Given the description of an element on the screen output the (x, y) to click on. 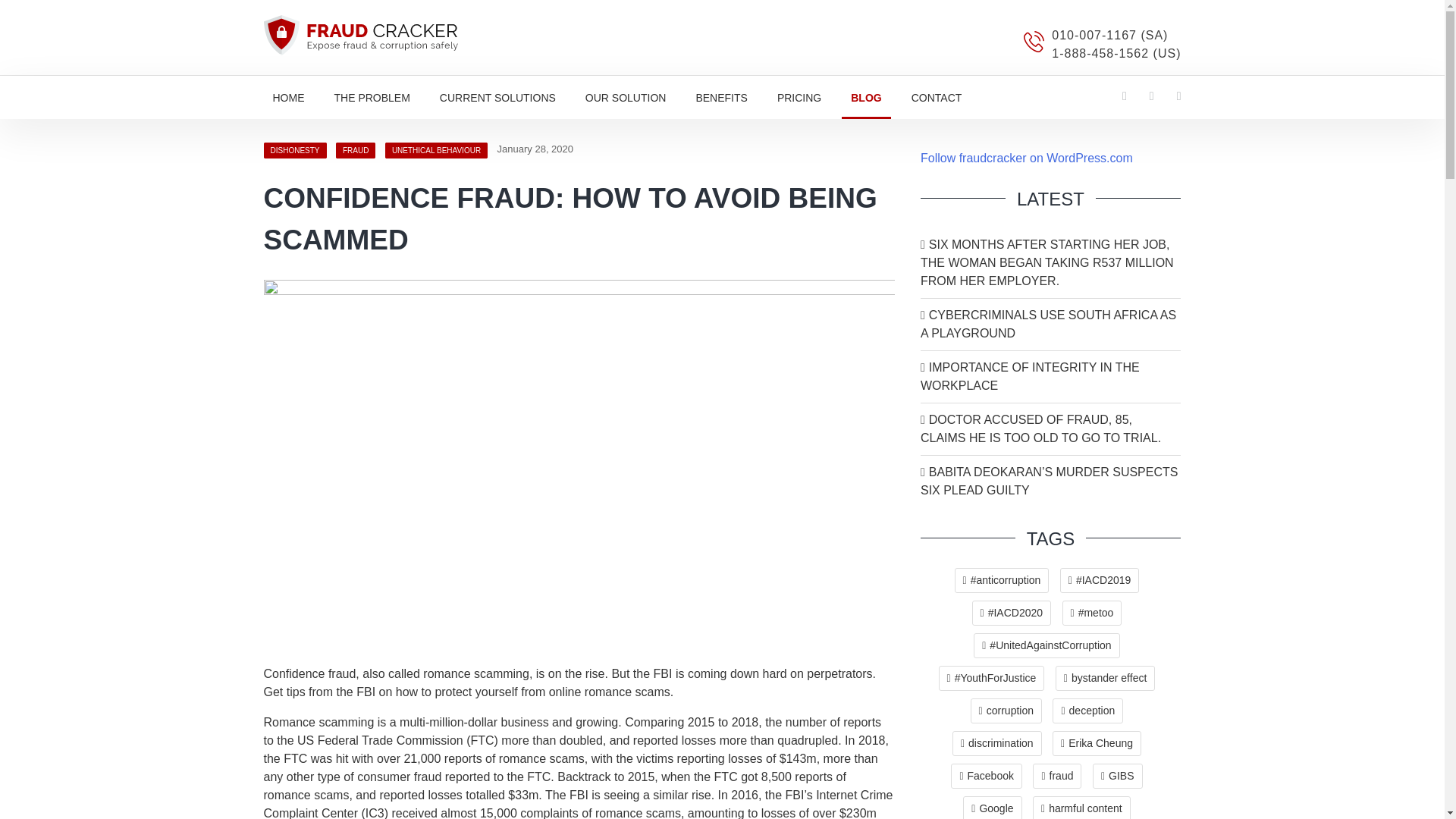
CONTACT (936, 98)
HOME (288, 98)
DISHONESTY (294, 150)
OUR SOLUTION (625, 98)
BENEFITS (720, 98)
CURRENT SOLUTIONS (497, 98)
010-007-1167 (1109, 34)
1-888-458-1562 (1115, 52)
PRICING (798, 98)
THE PROBLEM (371, 98)
